Given the description of an element on the screen output the (x, y) to click on. 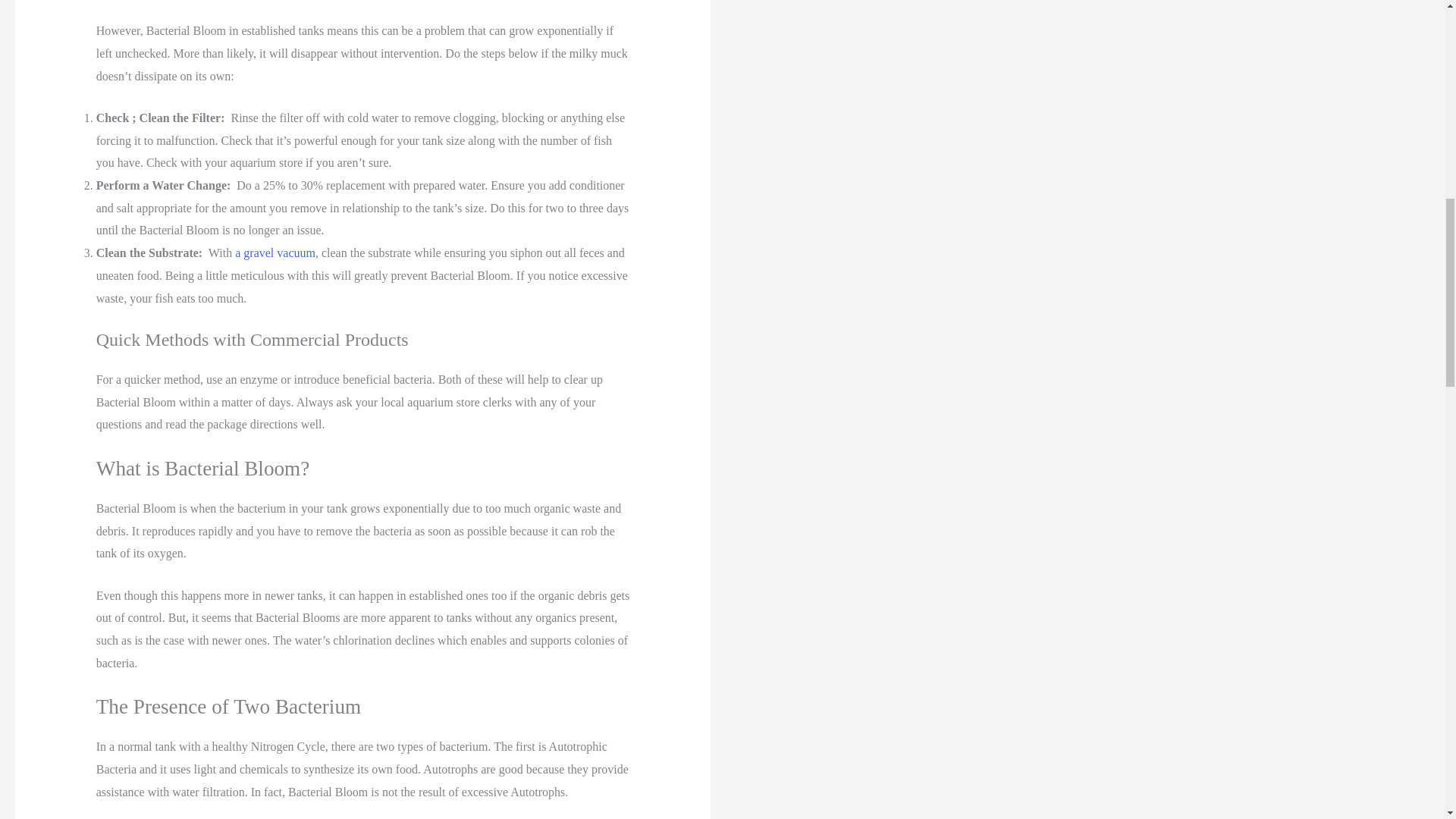
a gravel vacuum (274, 252)
